Given the description of an element on the screen output the (x, y) to click on. 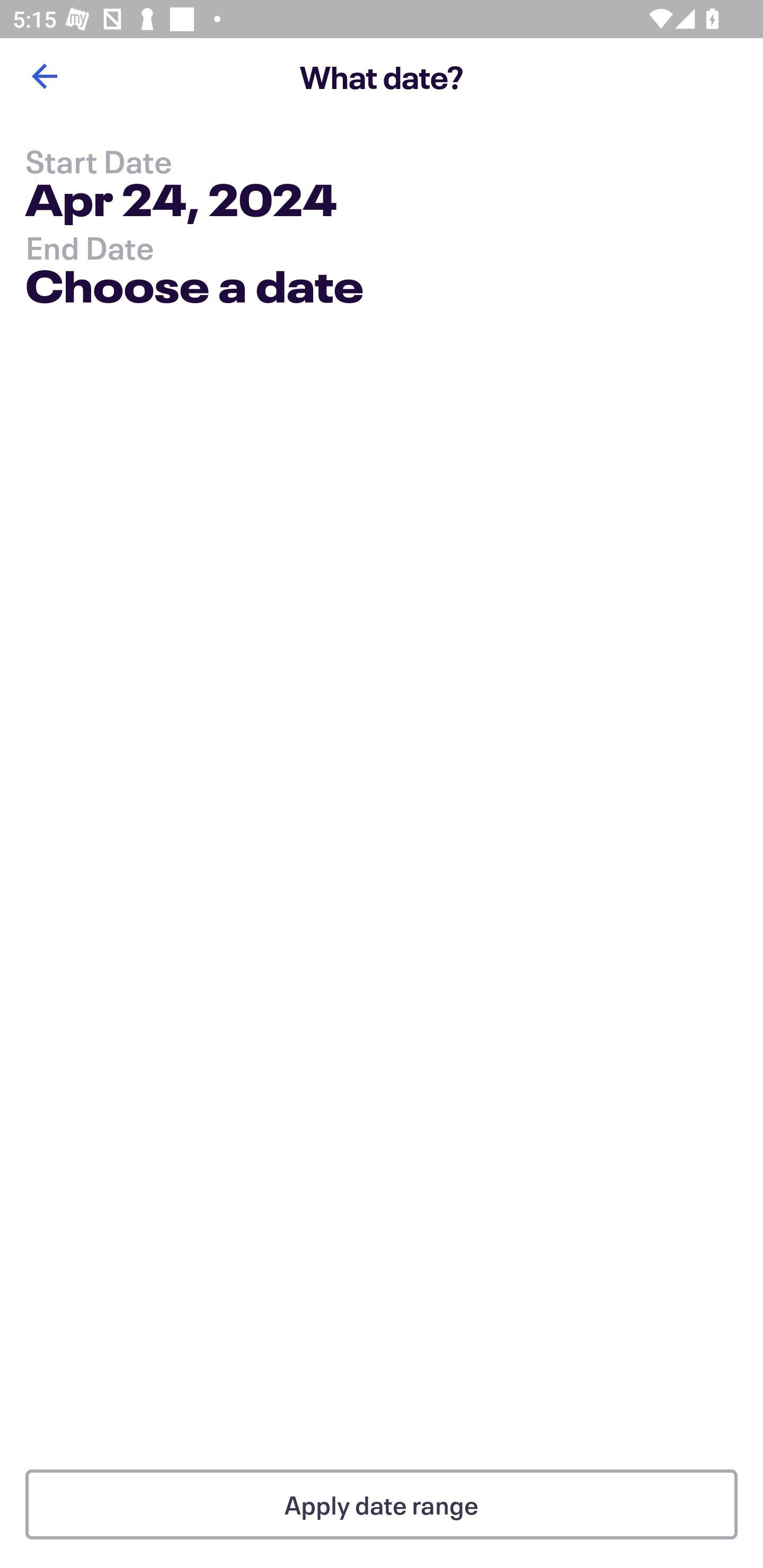
Back button (44, 75)
Apr 24, 2024 (181, 203)
Choose a date (194, 289)
Apply date range (381, 1504)
